Given the description of an element on the screen output the (x, y) to click on. 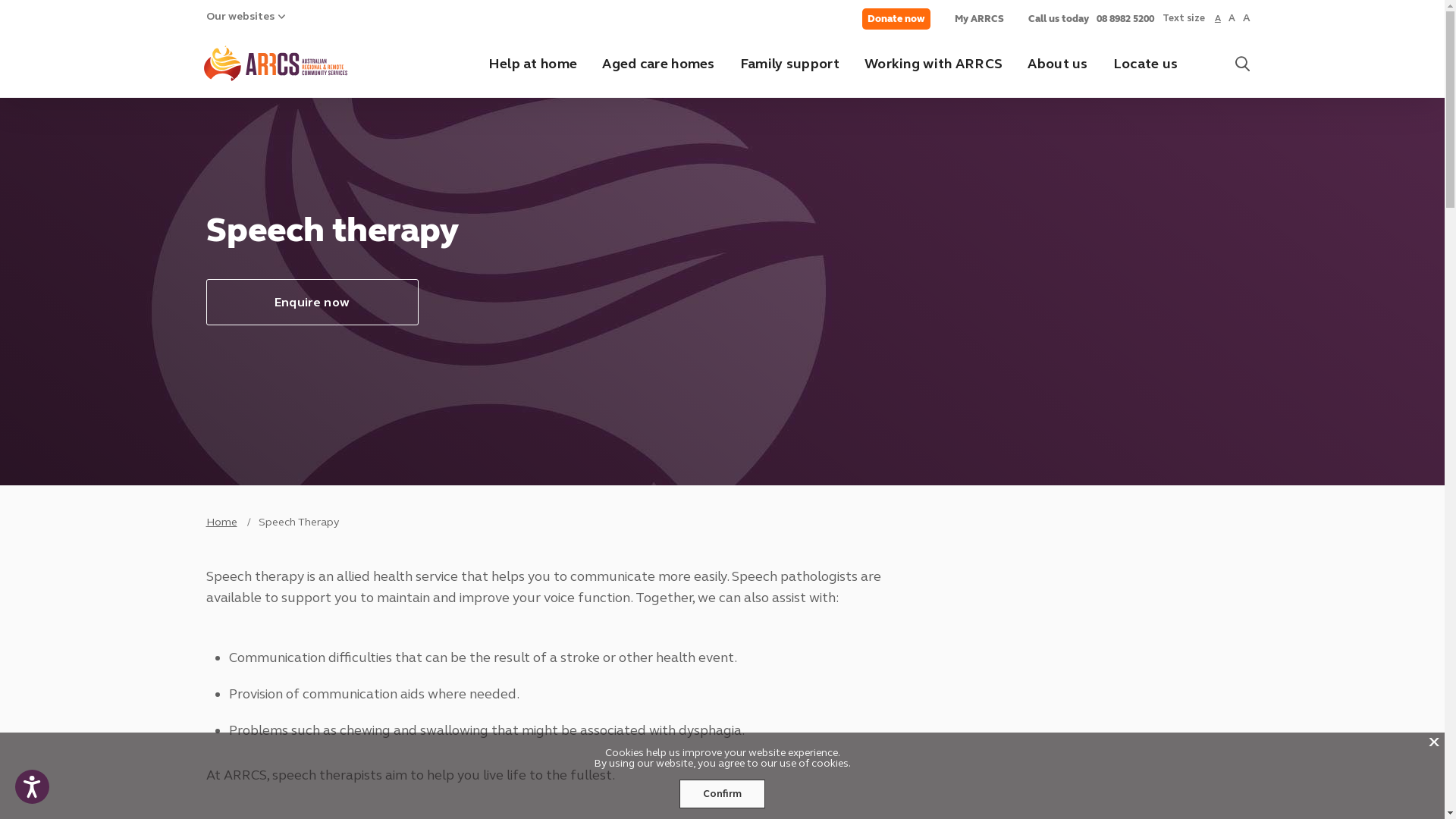
Family support Element type: text (789, 63)
My ARRCS Element type: text (978, 18)
08 8982 5200 Element type: text (1125, 18)
Enquire now Element type: text (312, 302)
A Element type: text (1217, 17)
Speech Therapy Element type: text (297, 521)
Search Element type: hover (1241, 63)
X Element type: text (1432, 742)
Aged care homes Element type: text (658, 63)
Logo Element type: hover (290, 63)
Locate us Element type: text (1145, 63)
Confirm Element type: text (722, 793)
Donate now Element type: text (896, 18)
About us Element type: text (1057, 63)
Working with ARRCS Element type: text (933, 63)
Help at home Element type: text (532, 63)
A Element type: text (1246, 17)
Home Element type: text (221, 521)
A Element type: text (1231, 18)
